Given the description of an element on the screen output the (x, y) to click on. 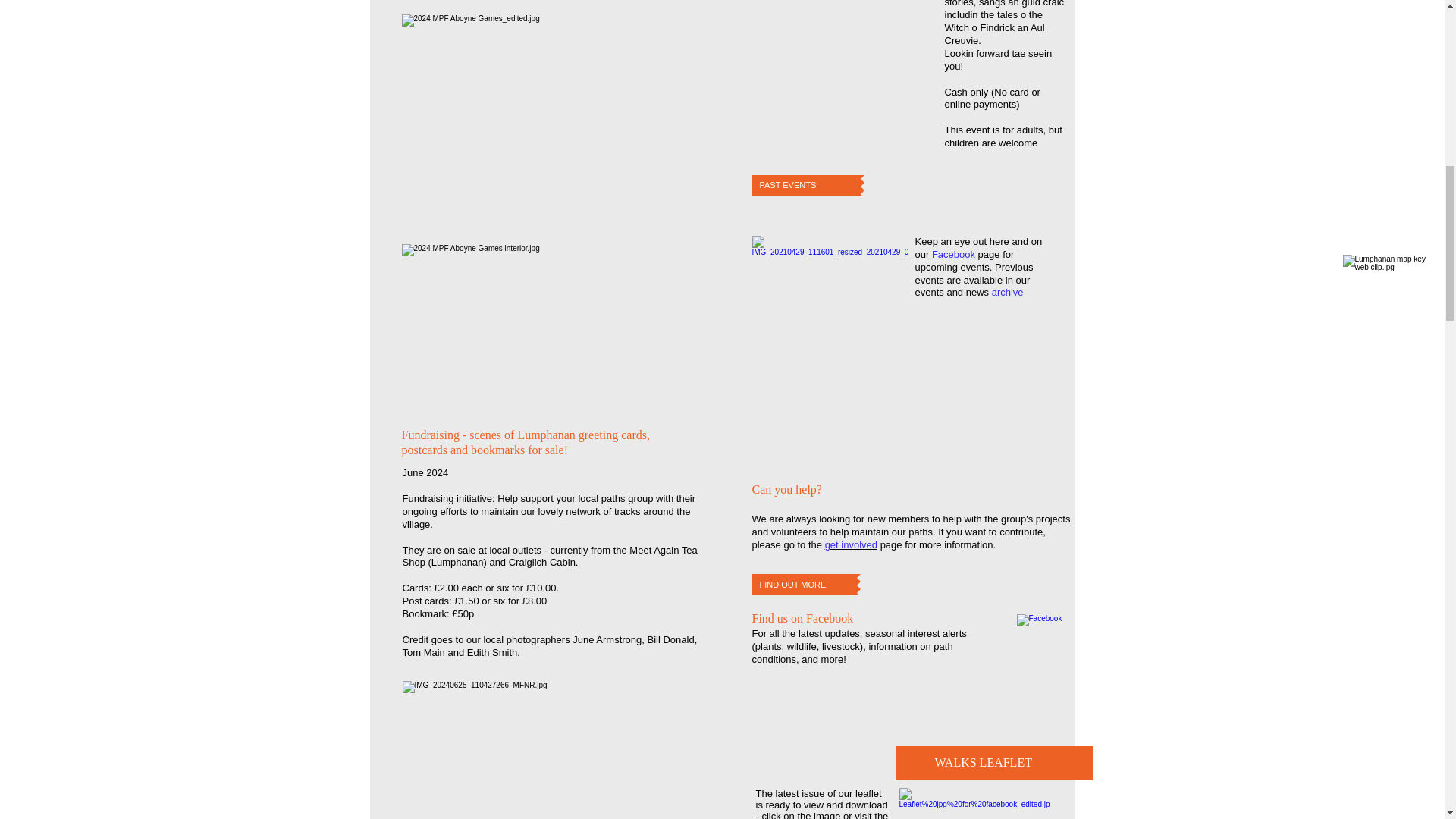
archive (1007, 292)
leaflet (869, 793)
PAST EVENTS (806, 185)
FIND OUT MORE (804, 584)
get involved (851, 544)
Facebook (953, 254)
